Given the description of an element on the screen output the (x, y) to click on. 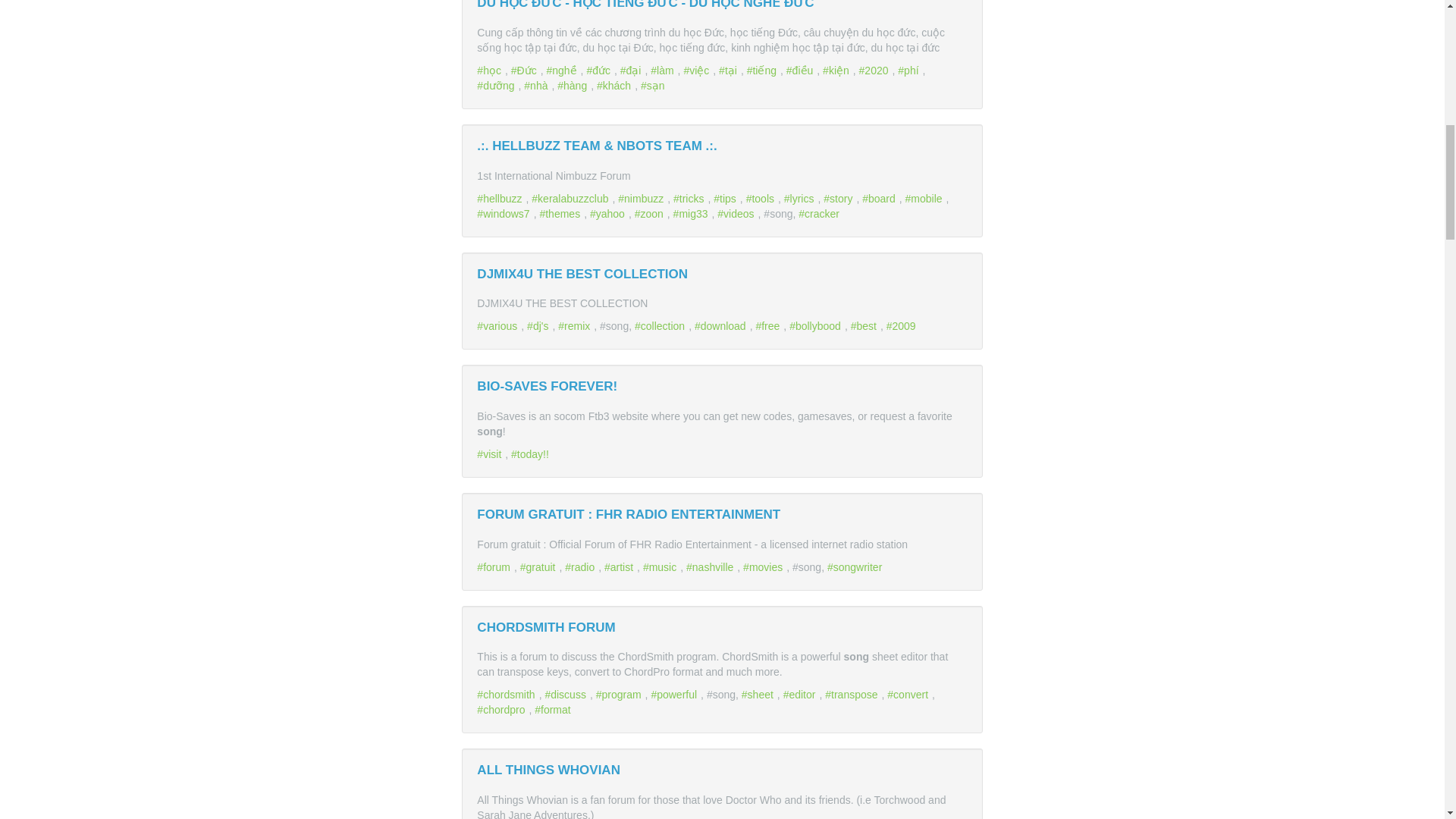
hellbuzz (501, 198)
keralabuzzclub (571, 198)
2020 (875, 70)
